Given the description of an element on the screen output the (x, y) to click on. 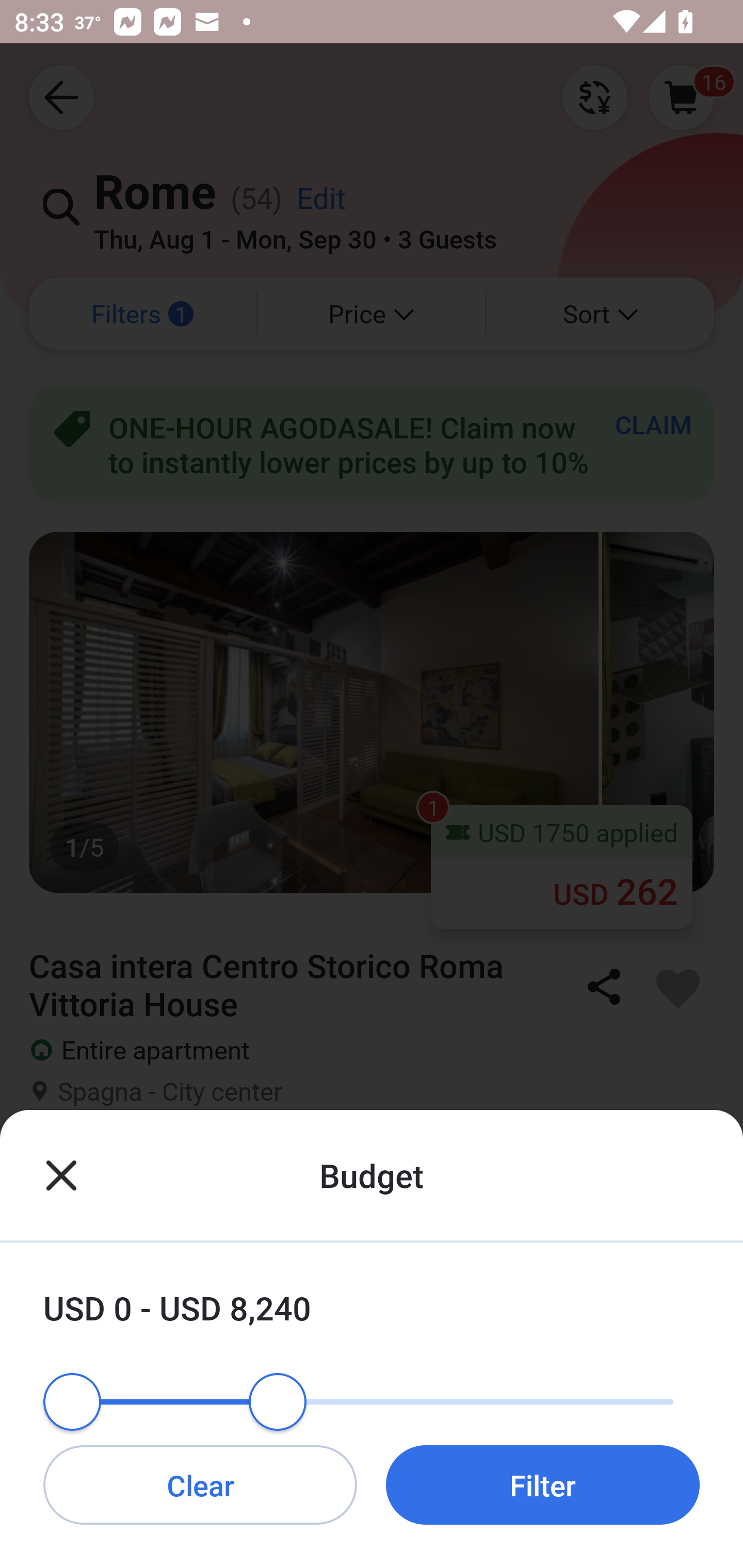
Rare Find (371, 1170)
Clear (200, 1484)
Filter (542, 1484)
